Given the description of an element on the screen output the (x, y) to click on. 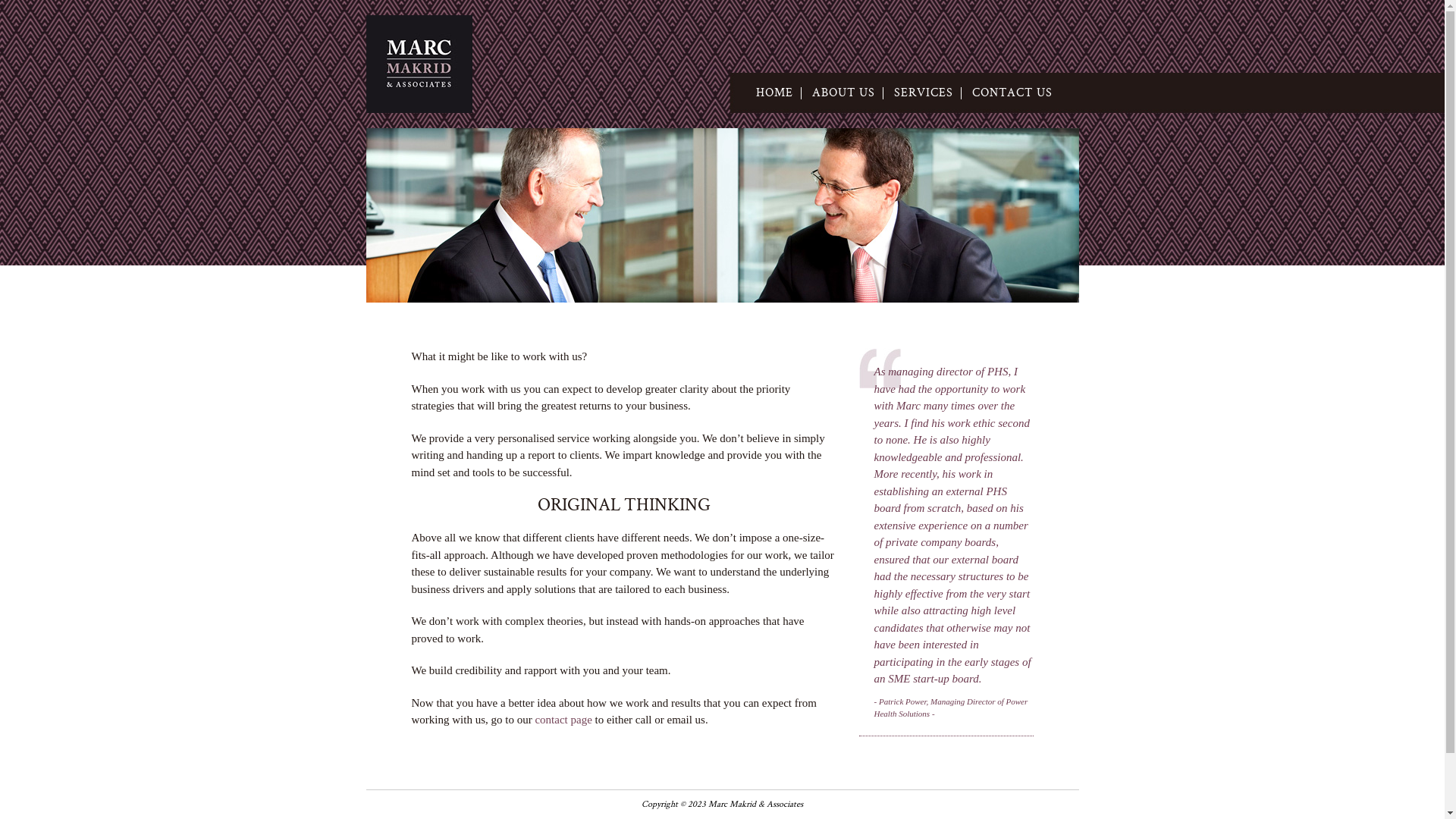
HOME Element type: text (774, 93)
CONTACT US Element type: text (1012, 93)
feature_howwework Element type: hover (721, 215)
contact page Element type: text (562, 719)
ABOUT US Element type: text (843, 93)
SERVICES Element type: text (923, 93)
